Given the description of an element on the screen output the (x, y) to click on. 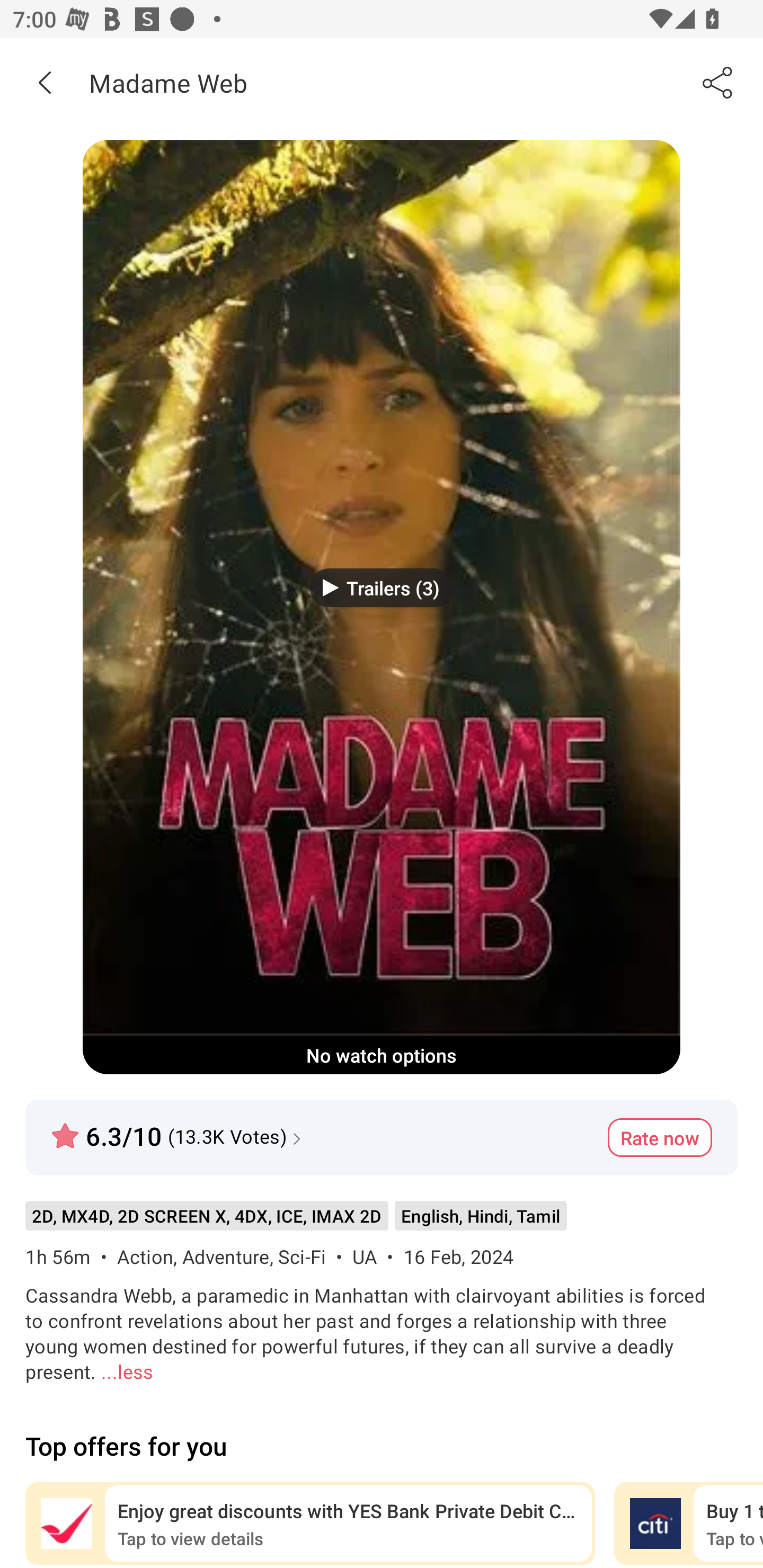
Back (44, 82)
Share (718, 82)
Movie Banner Trailers (3) No watch options (381, 606)
Trailers (3) (381, 586)
6.3/10 (13.3K Votes) (178, 1128)
Rate now (659, 1137)
